Given the description of an element on the screen output the (x, y) to click on. 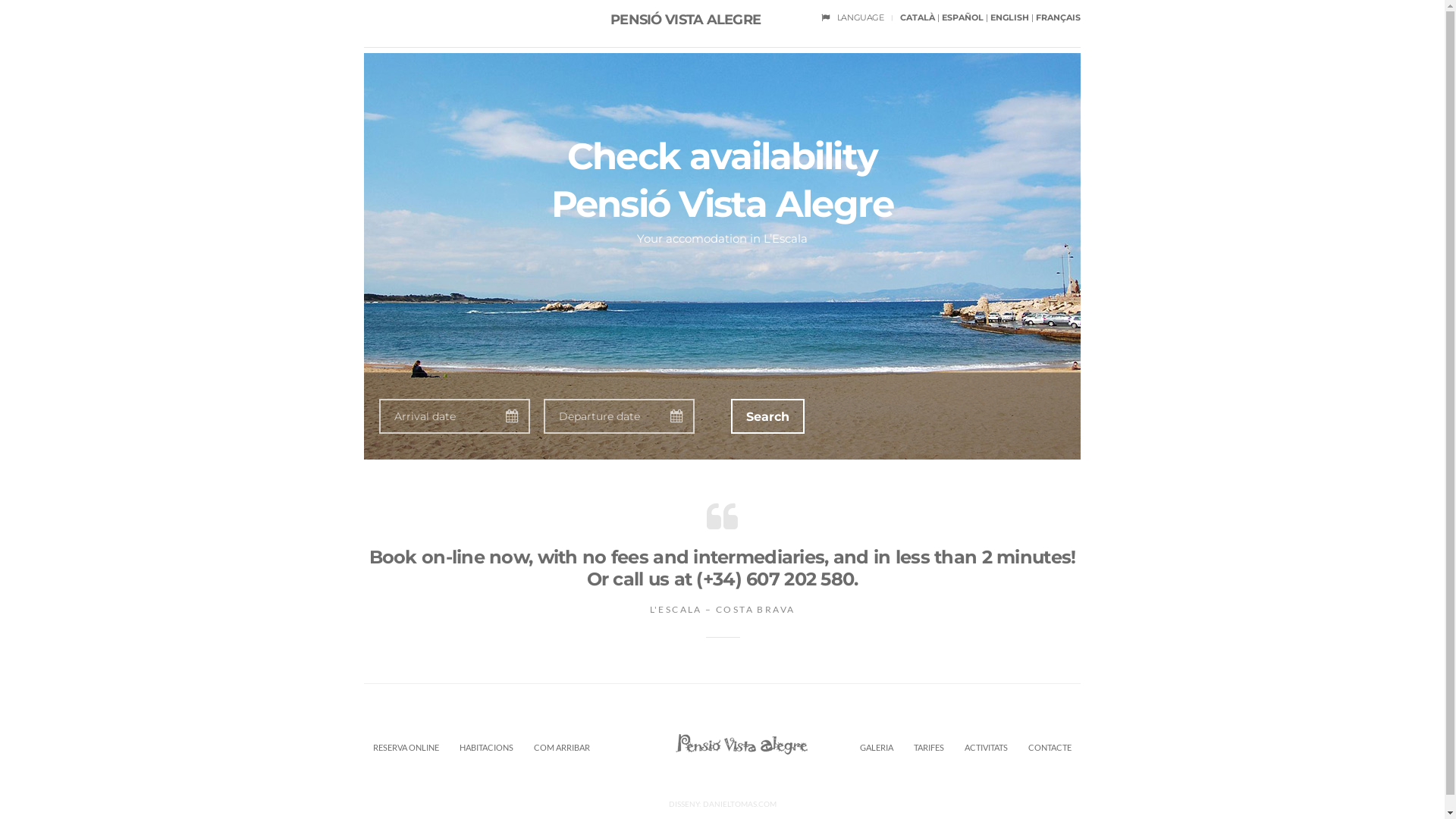
RESERVA ONLINE Element type: text (406, 749)
GALERIA Element type: text (876, 749)
CONTACTE Element type: text (1049, 749)
Search Element type: text (767, 415)
COM ARRIBAR Element type: text (561, 749)
HABITACIONS Element type: text (486, 749)
ACTIVITATS Element type: text (985, 749)
TARIFES Element type: text (928, 749)
ENGLISH Element type: text (1009, 17)
